Given the description of an element on the screen output the (x, y) to click on. 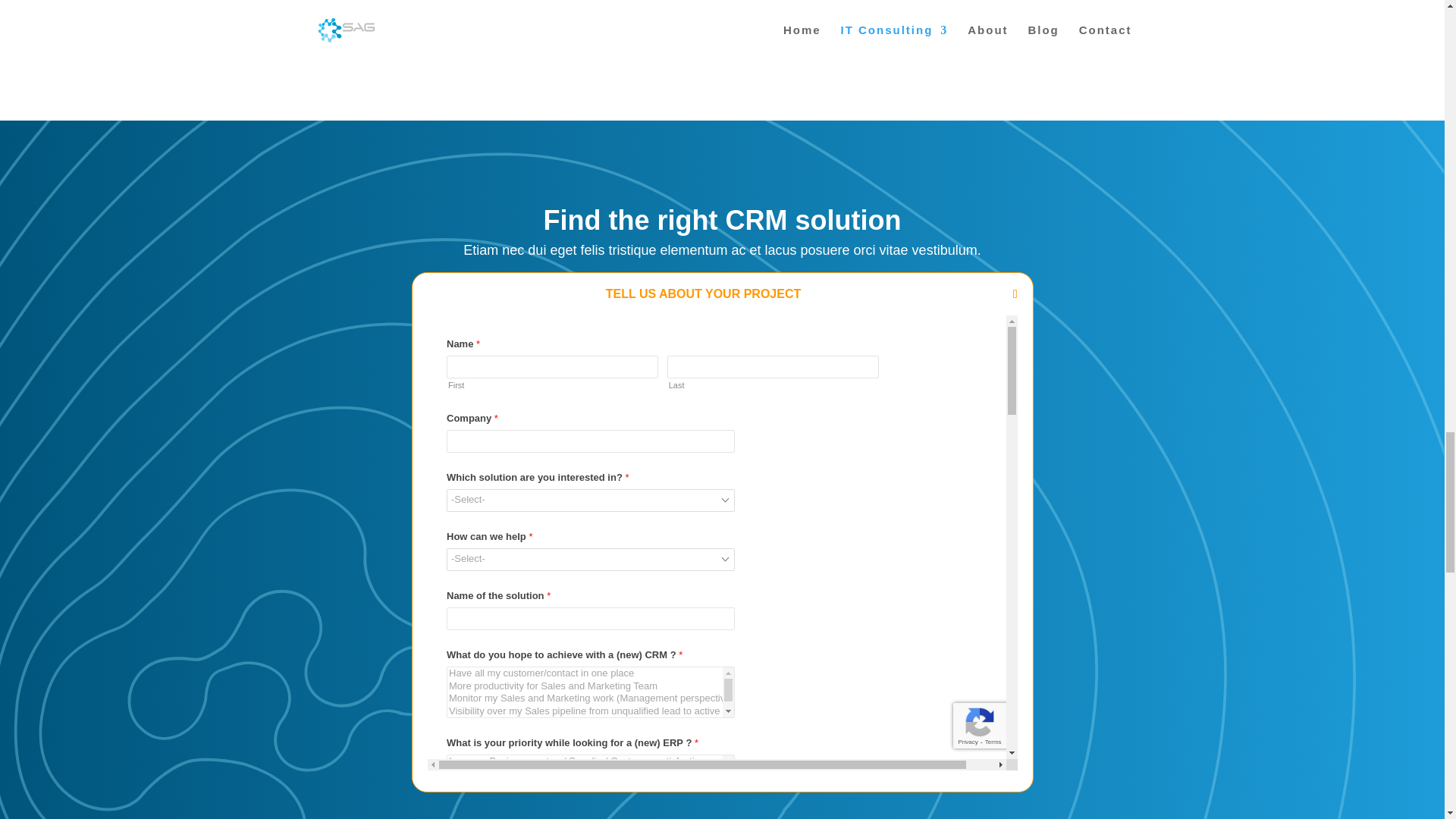
Get Started (723, 5)
Let's start (448, 5)
Contact us (994, 5)
